Given the description of an element on the screen output the (x, y) to click on. 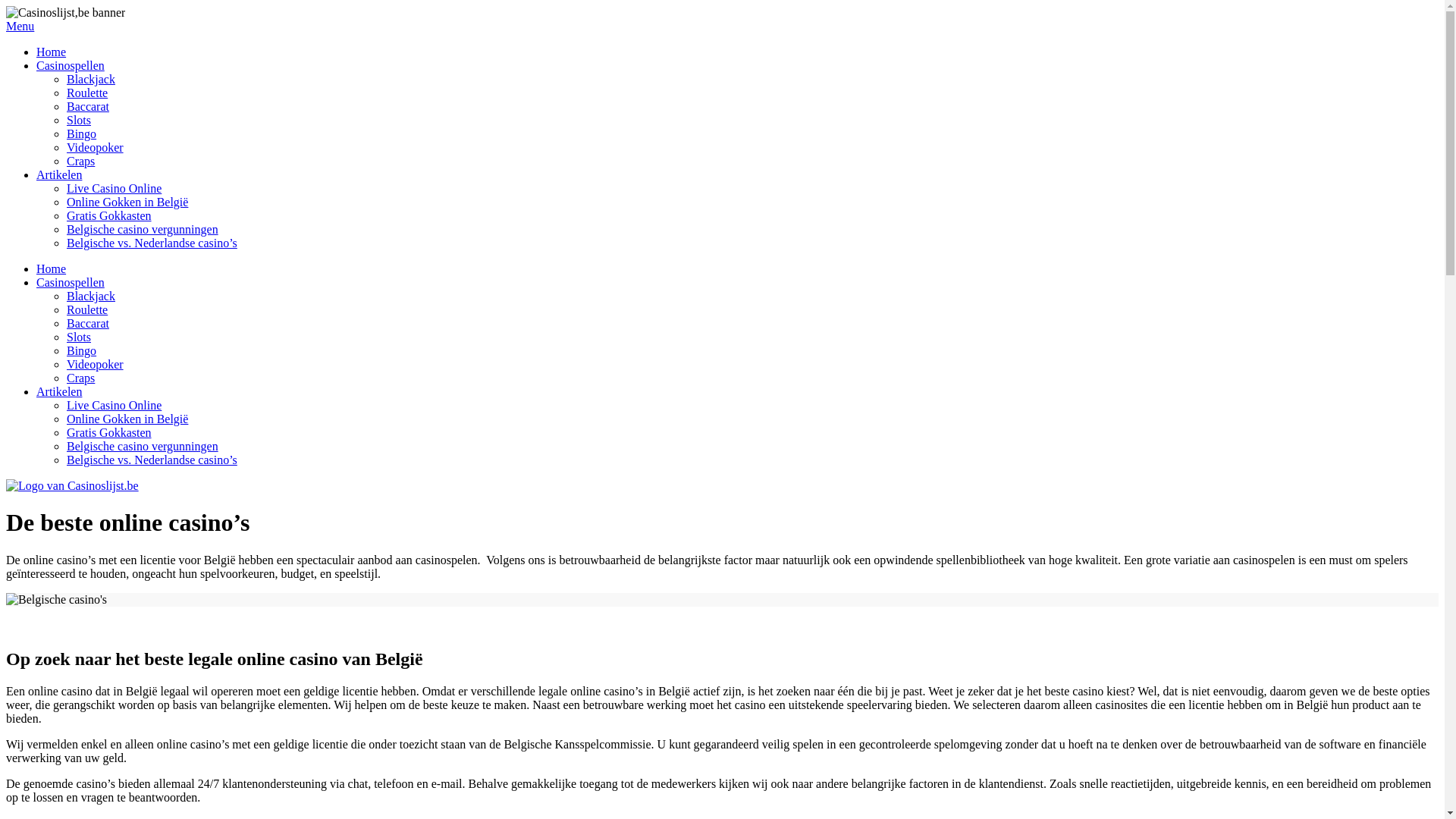
Videopoker Element type: text (94, 363)
Belgische casino vergunningen Element type: text (142, 228)
Videopoker Element type: text (94, 147)
Baccarat Element type: text (87, 106)
Gratis Gokkasten Element type: text (108, 432)
Live Casino Online Element type: text (113, 404)
Craps Element type: text (80, 377)
Bingo Element type: text (81, 350)
Slots Element type: text (78, 336)
Menu Element type: text (722, 25)
Casinospellen Element type: text (70, 282)
Slots Element type: text (78, 119)
Casinospellen Element type: text (70, 65)
Baccarat Element type: text (87, 322)
Roulette Element type: text (86, 92)
Belgische casino vergunningen Element type: text (142, 445)
Home Element type: text (50, 268)
Home Element type: text (50, 51)
Artikelen Element type: text (58, 391)
Blackjack Element type: text (90, 295)
Blackjack Element type: text (90, 78)
Roulette Element type: text (86, 309)
Live Casino Online Element type: text (113, 188)
Gratis Gokkasten Element type: text (108, 215)
Bingo Element type: text (81, 133)
Craps Element type: text (80, 160)
Artikelen Element type: text (58, 174)
